Given the description of an element on the screen output the (x, y) to click on. 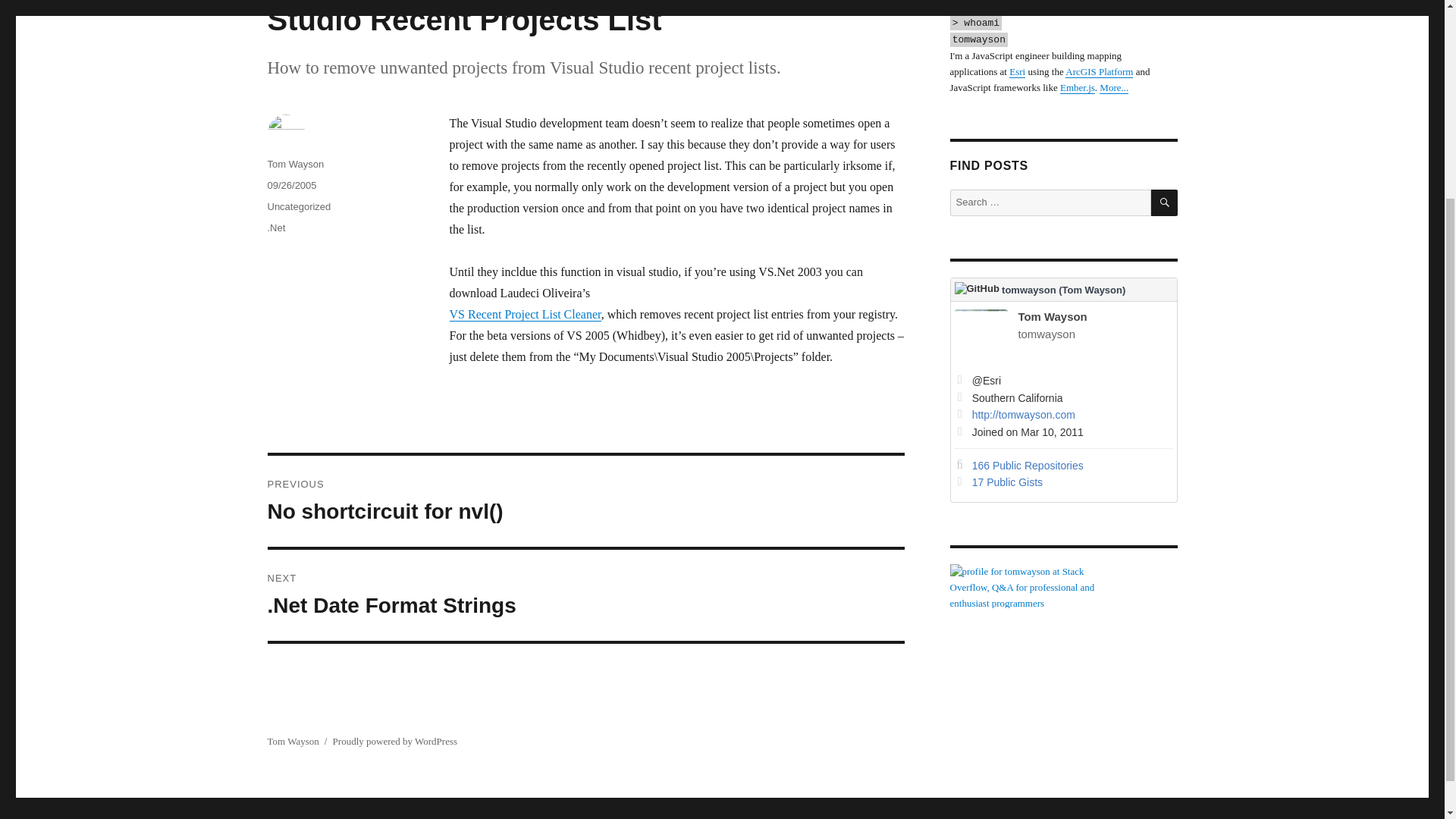
Tom Wayson (294, 163)
Location (1072, 398)
View profile (1020, 336)
Ember.js (1076, 87)
.Net (275, 227)
ArcGIS Platform (1098, 71)
Blog (1072, 415)
166 Public Repositories (1027, 465)
Company (1072, 381)
SEARCH (1164, 202)
